Given the description of an element on the screen output the (x, y) to click on. 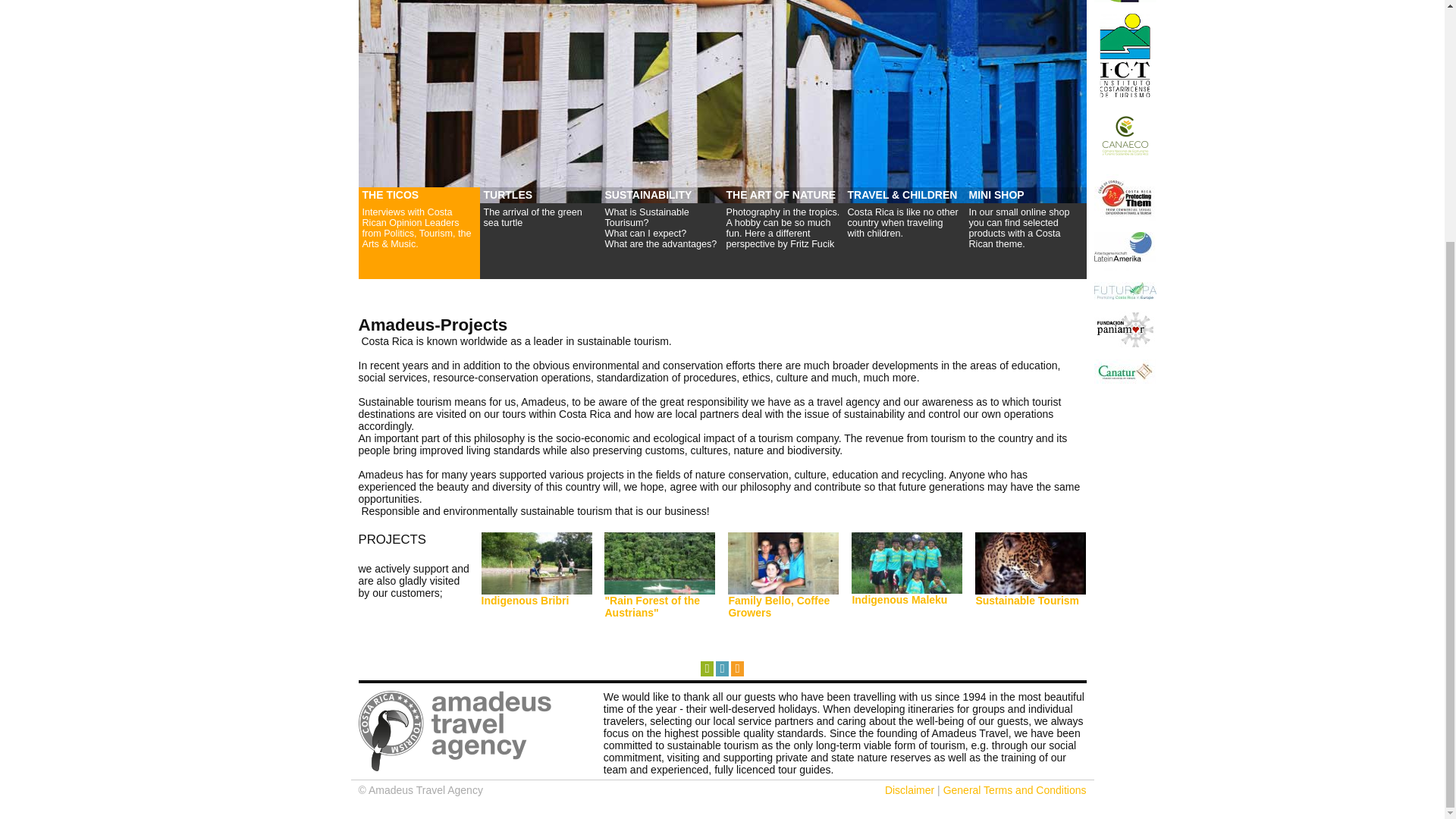
Arbeitsgemeinschaft Lateinamerika! (1124, 251)
Futuropa (1124, 290)
Protect children from sex tourism (1124, 197)
Canatur (1124, 371)
Safe Travels (1124, 1)
National Chamber for Ecotourism (1124, 135)
